Given the description of an element on the screen output the (x, y) to click on. 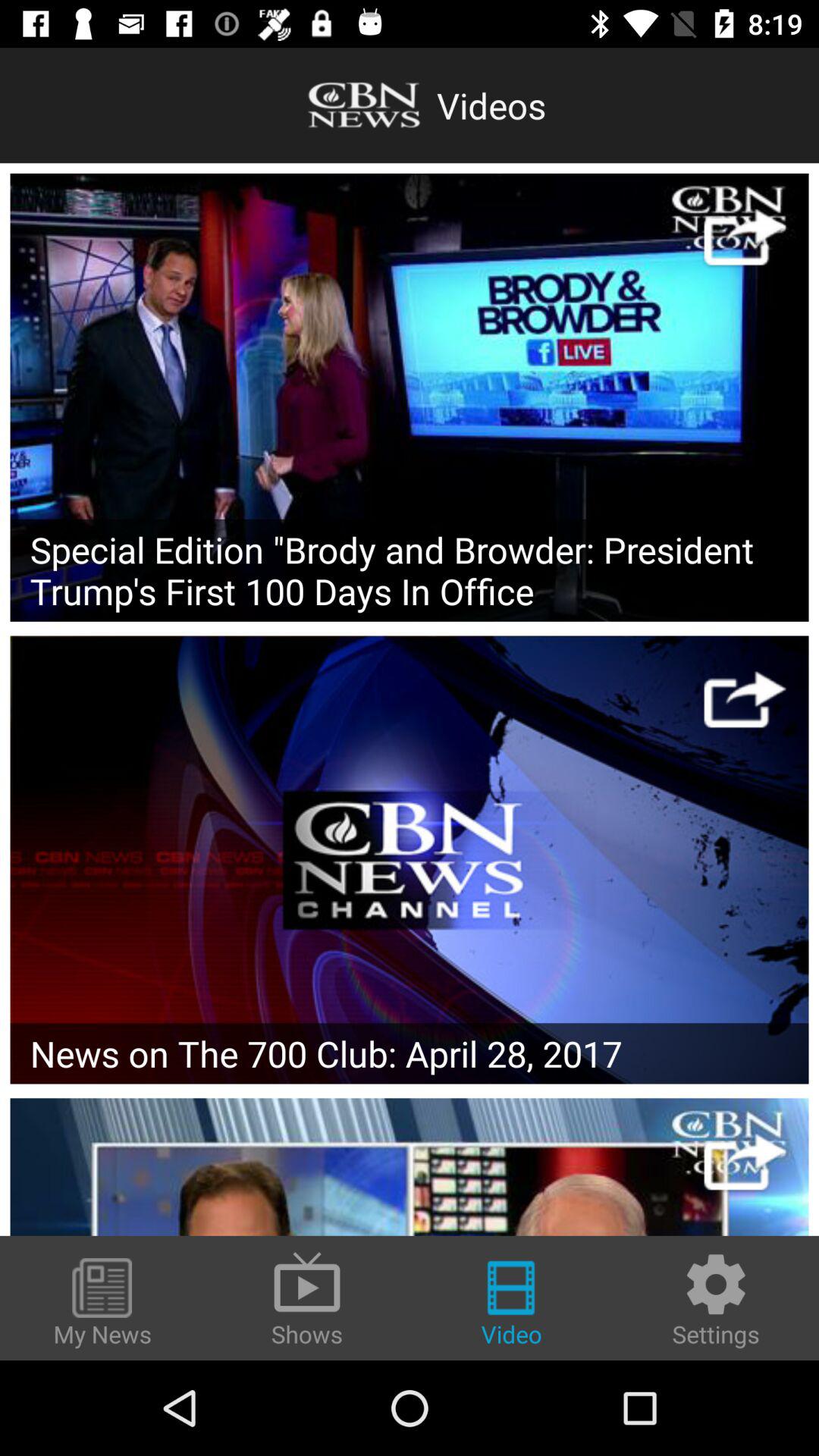
choose settings icon (715, 1299)
